Given the description of an element on the screen output the (x, y) to click on. 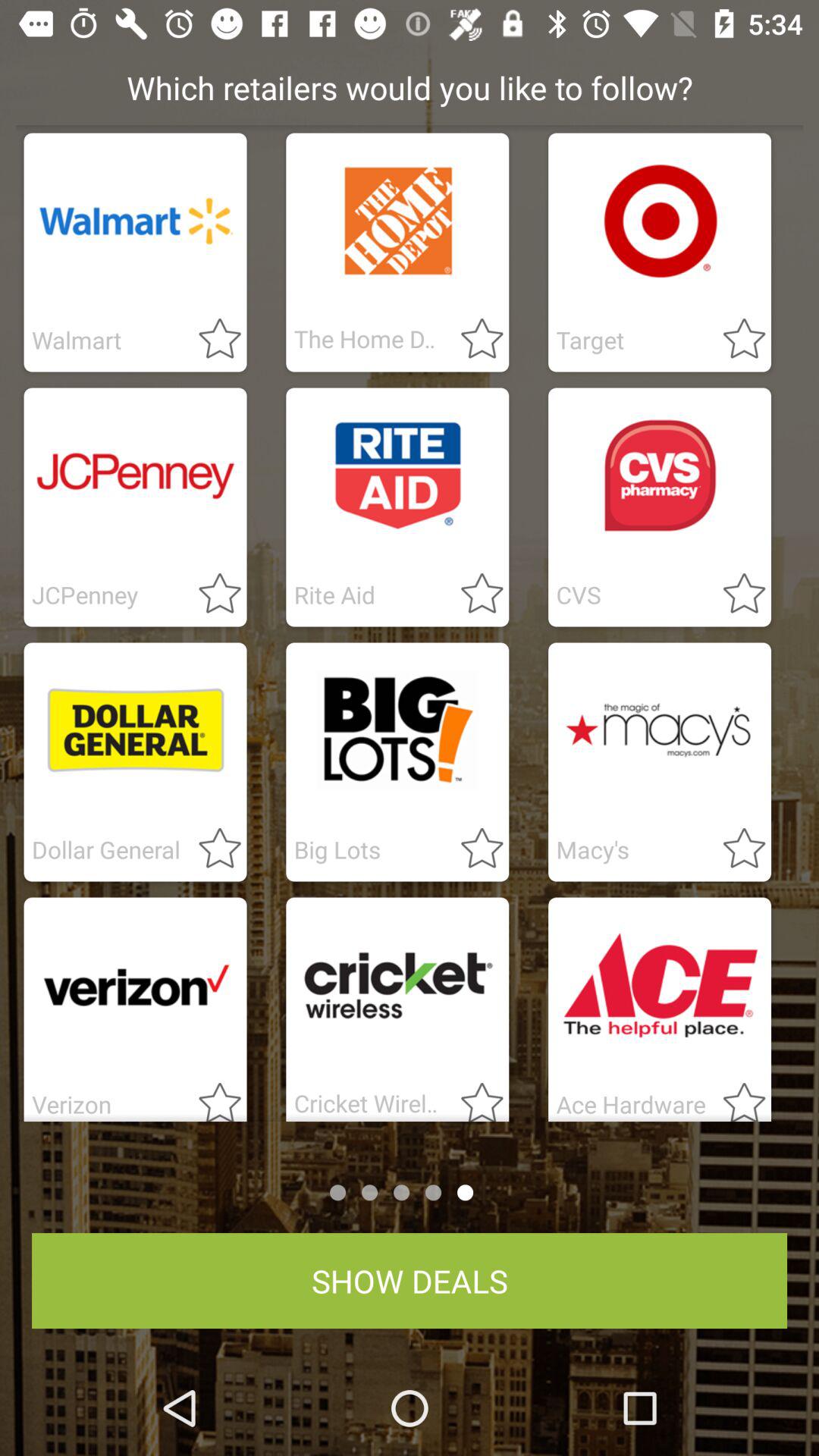
make favourite (473, 849)
